Given the description of an element on the screen output the (x, y) to click on. 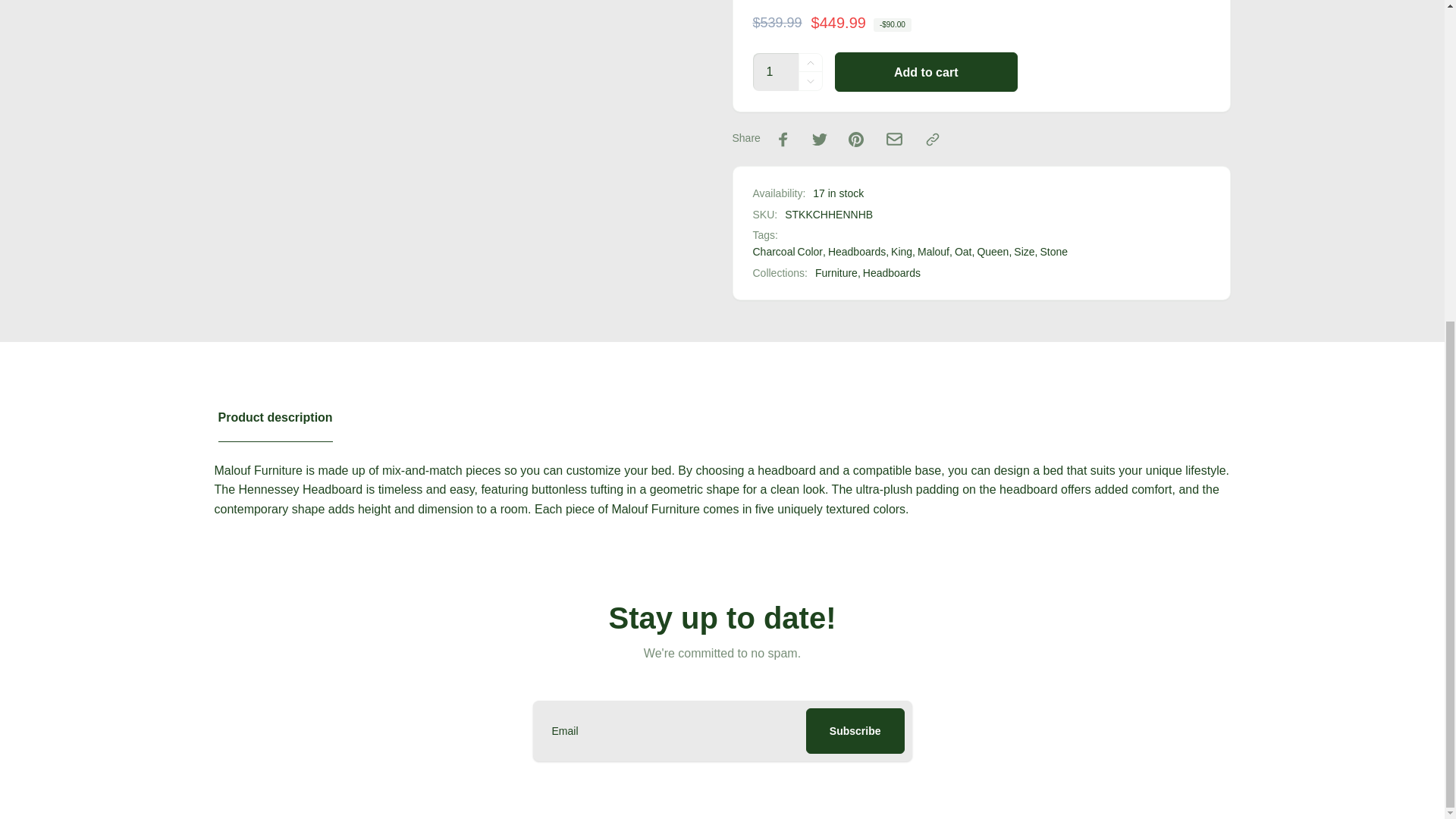
Show products matching tag Charcoal (773, 251)
Show products matching tag Color (809, 251)
Show products matching tag Queen (992, 251)
1 (774, 71)
Show products matching tag Oat (963, 251)
Show products matching tag Headboards (856, 251)
Show products matching tag Size (1023, 251)
Show products matching tag King (901, 251)
Show products matching tag Malouf (933, 251)
Headboards (891, 272)
Furniture (837, 272)
Show products matching tag Stone (1053, 251)
